Given the description of an element on the screen output the (x, y) to click on. 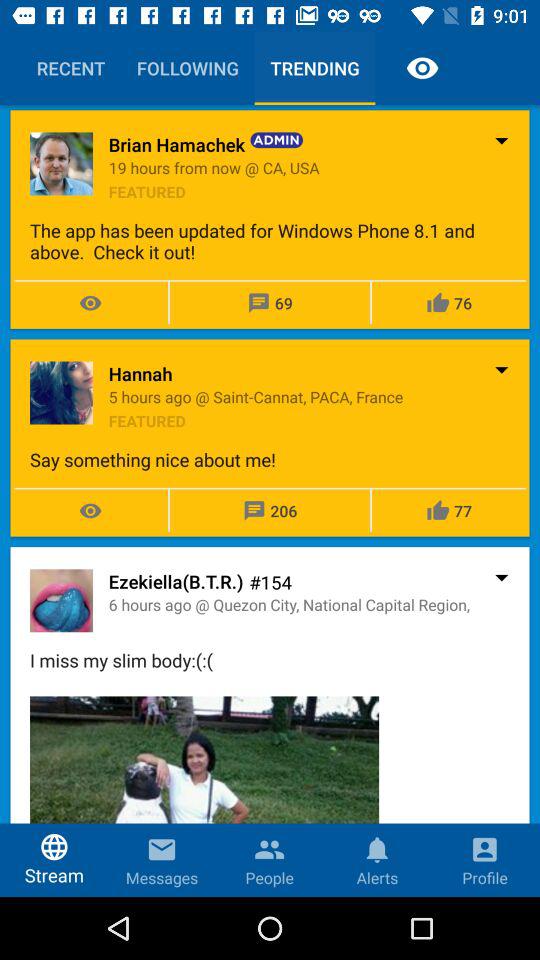
jump to i miss my icon (269, 660)
